Given the description of an element on the screen output the (x, y) to click on. 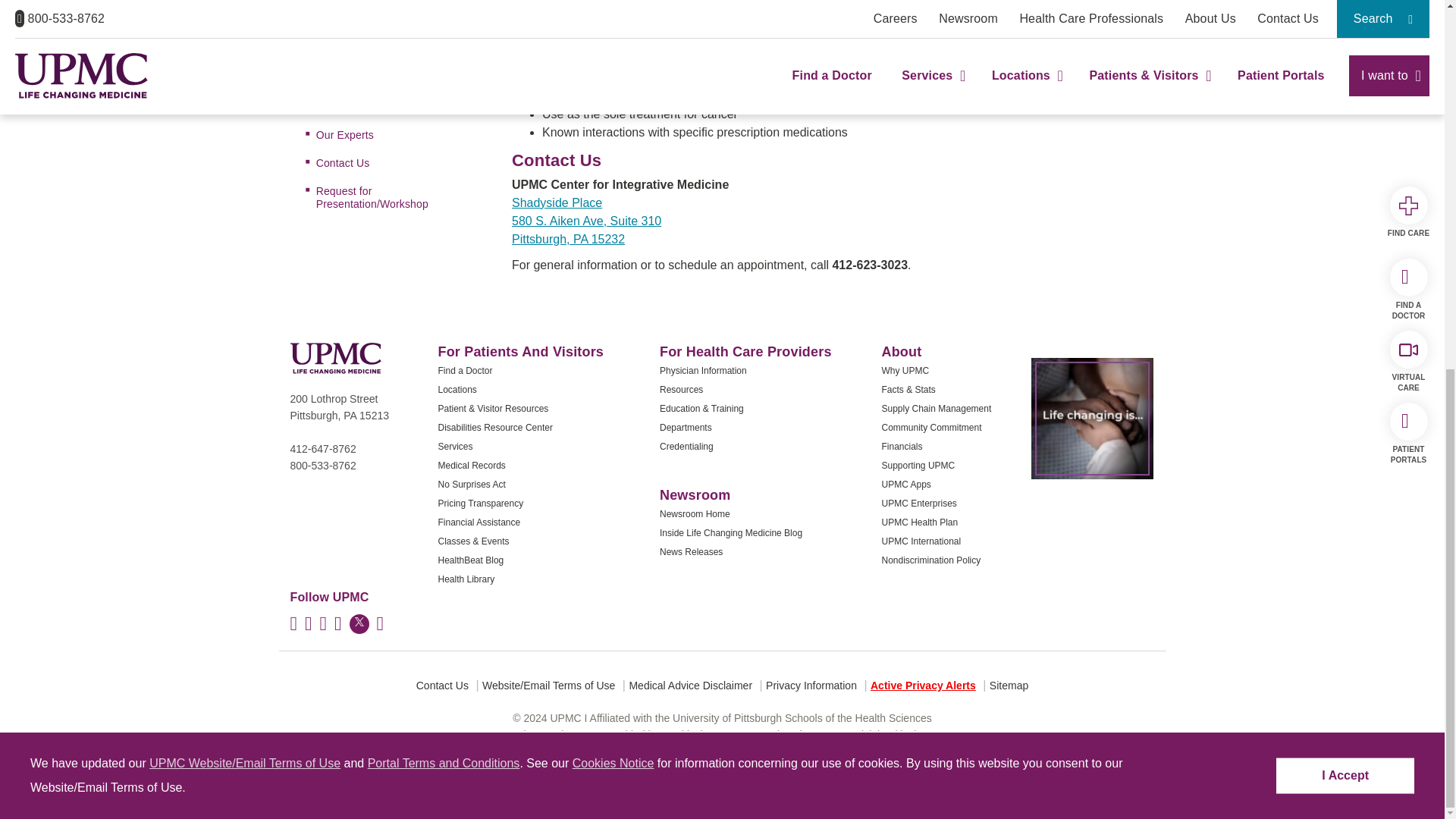
Cookies Notice (612, 93)
I Accept (1344, 107)
Portal Terms and Conditions (443, 93)
